Given the description of an element on the screen output the (x, y) to click on. 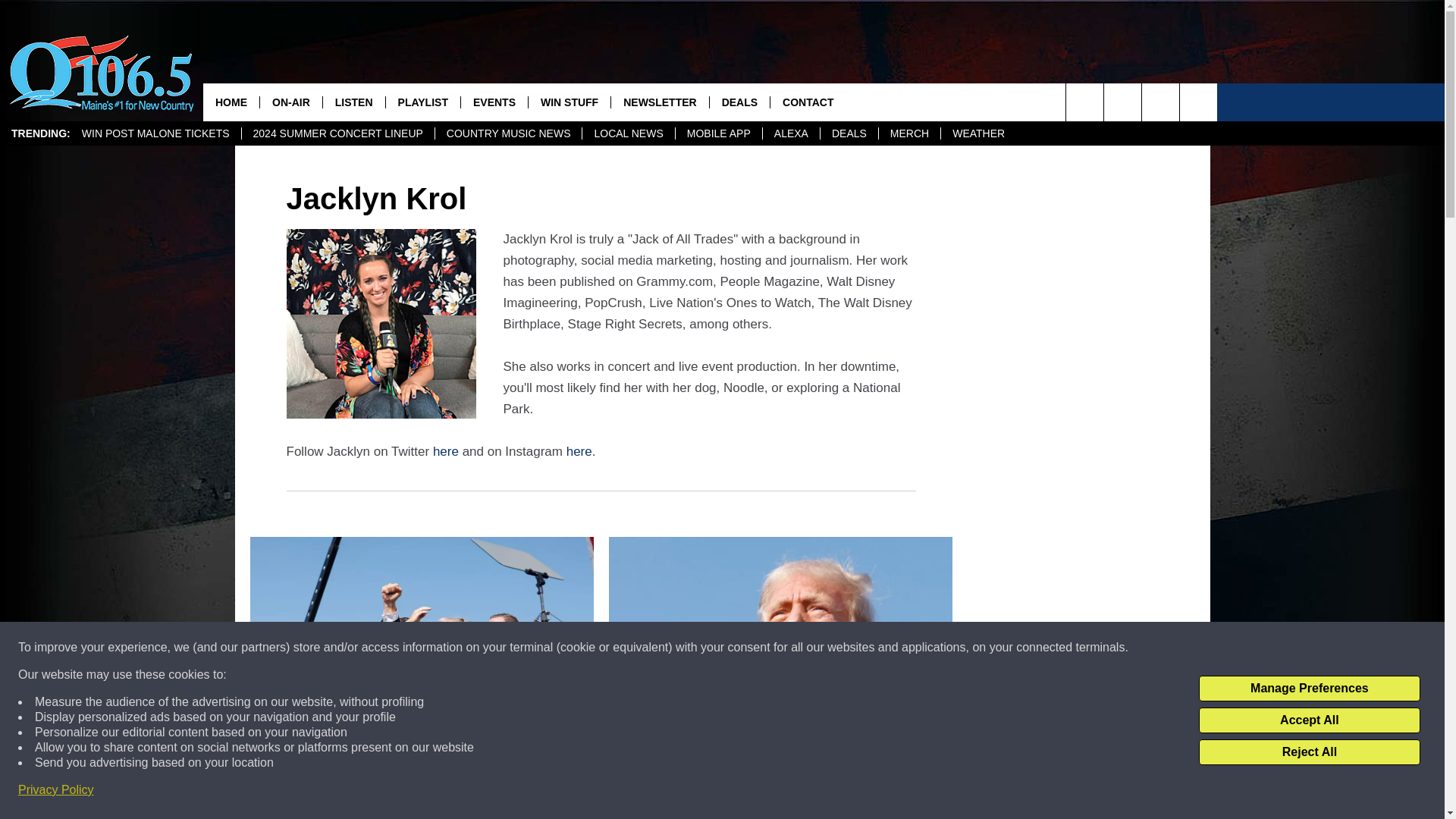
ALEXA (790, 133)
PLAYLIST (422, 102)
Privacy Policy (55, 789)
Manage Preferences (1309, 688)
MOBILE APP (718, 133)
ON-AIR (290, 102)
LOCAL NEWS (627, 133)
Reject All (1309, 751)
COUNTRY MUSIC NEWS (507, 133)
2024 SUMMER CONCERT LINEUP (337, 133)
WEATHER (978, 133)
EVENTS (493, 102)
MERCH (908, 133)
WIN POST MALONE TICKETS (155, 133)
WIN STUFF (568, 102)
